Given the description of an element on the screen output the (x, y) to click on. 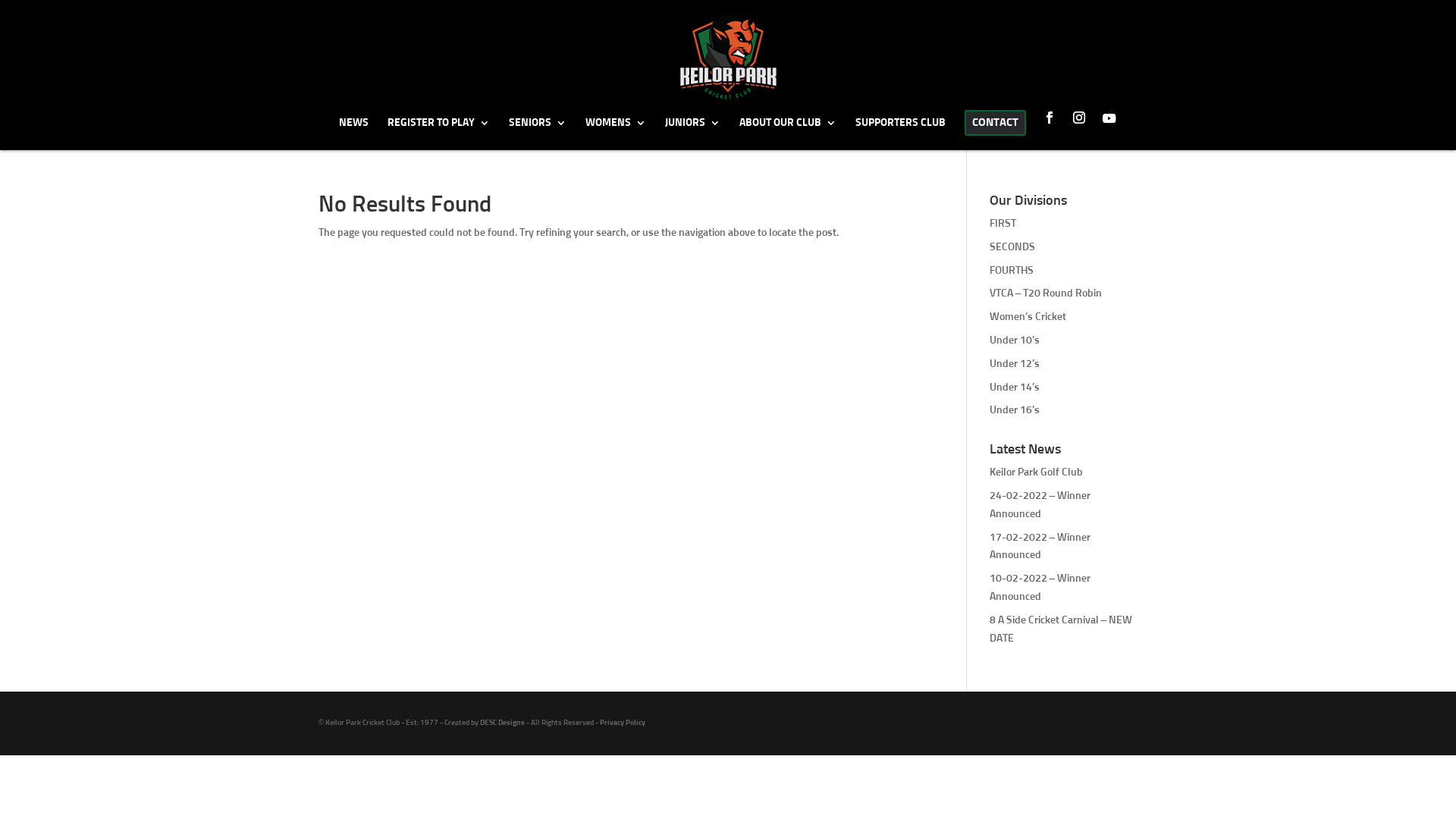
FOURTHS Element type: text (1011, 270)
NEWS Element type: text (352, 132)
CONTACT Element type: text (994, 129)
FIRST Element type: text (1002, 223)
Privacy Policy Element type: text (622, 722)
Keilor Park Golf Club Element type: text (1035, 472)
ABOUT OUR CLUB Element type: text (786, 132)
JUNIORS Element type: text (691, 132)
WOMENS Element type: text (615, 132)
SUPPORTERS CLUB Element type: text (900, 132)
DESC Designs Element type: text (502, 722)
SENIORS Element type: text (536, 132)
SECONDS Element type: text (1012, 246)
REGISTER TO PLAY Element type: text (437, 132)
